Given the description of an element on the screen output the (x, y) to click on. 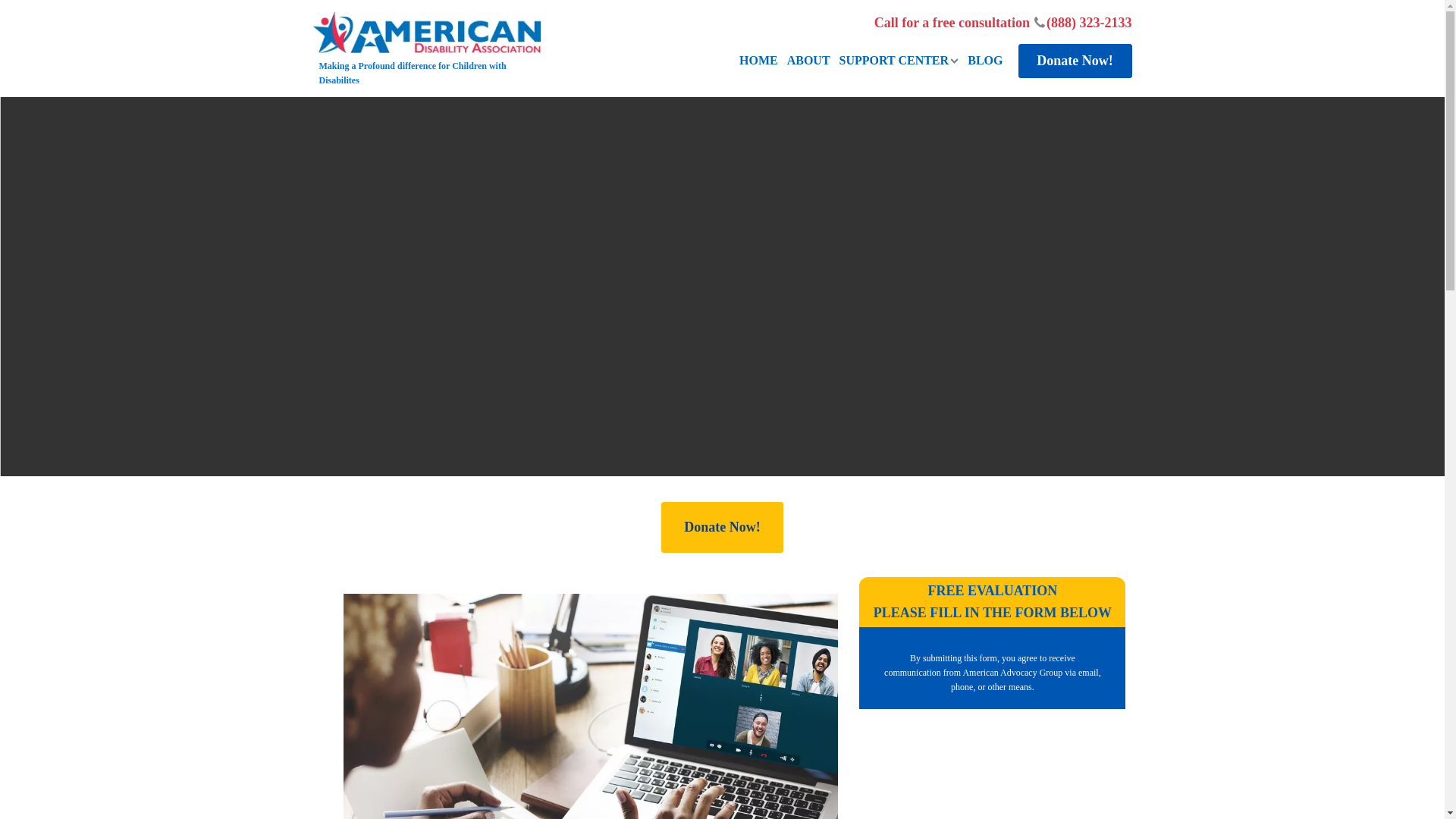
ABOUT (808, 60)
Donate Now! (1074, 60)
HOME (758, 60)
BLOG (985, 60)
Donate Now! (722, 527)
SUPPORT CENTER (899, 60)
Making a Profound difference for Children with Disabilites (426, 49)
